Given the description of an element on the screen output the (x, y) to click on. 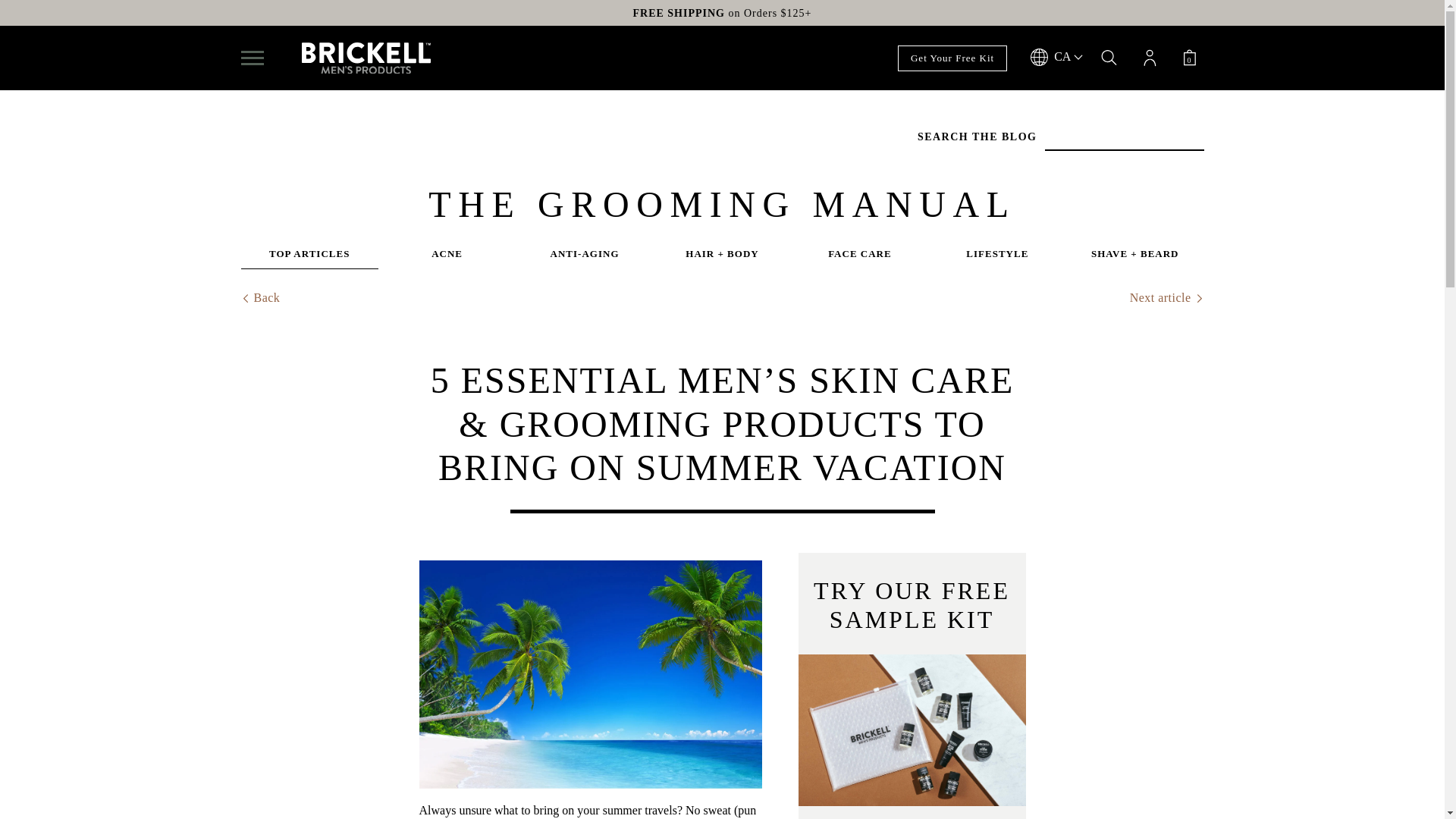
Show articles tagged Anti-Aging (583, 258)
Get your FREE Sample Kit (911, 729)
Show articles tagged Lifestyle (996, 258)
Show articles tagged Face Care (859, 258)
Show articles tagged Acne  (446, 258)
My Account (1149, 59)
